Given the description of an element on the screen output the (x, y) to click on. 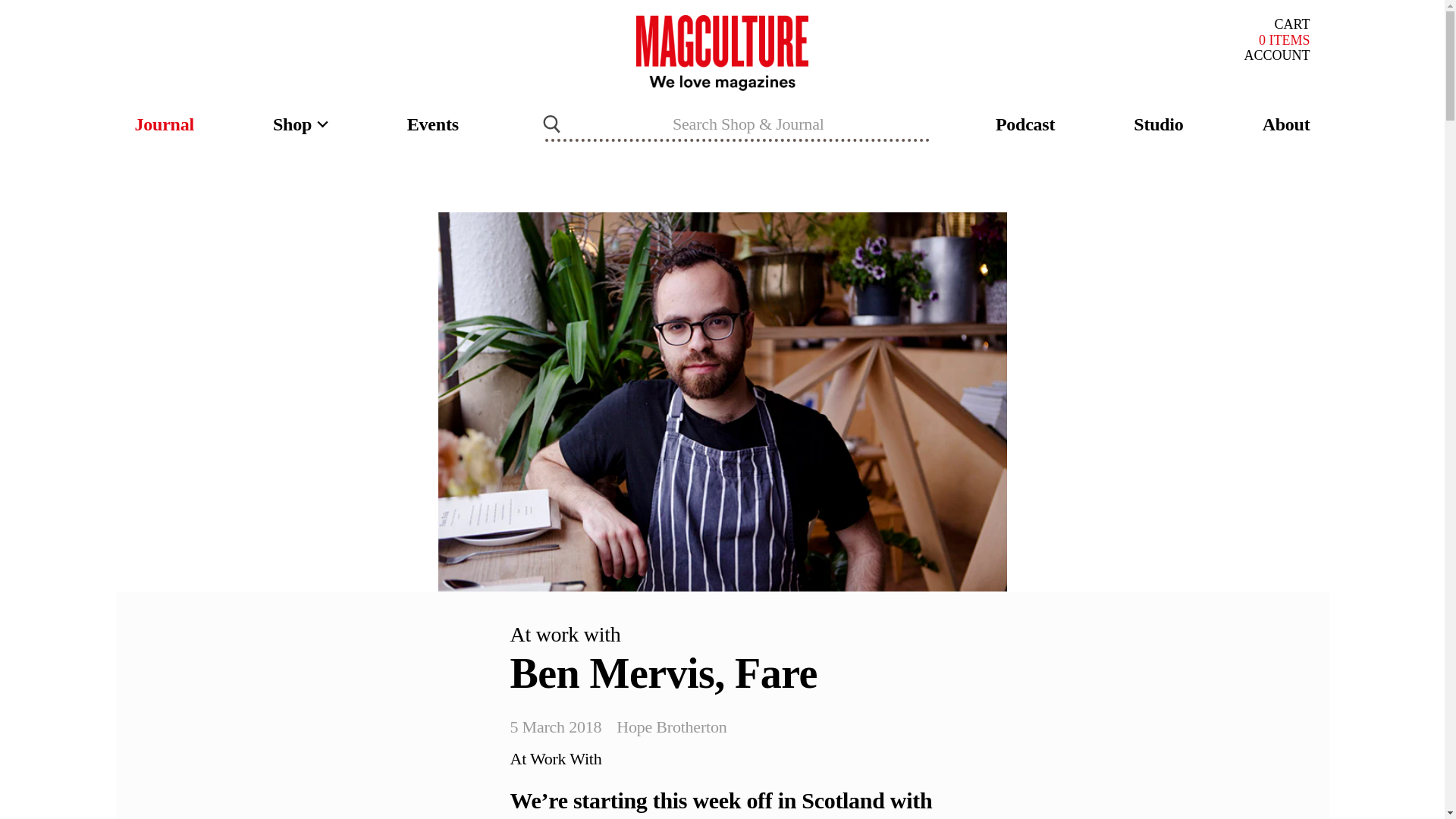
Show articles tagged At Work With (555, 758)
Shop (1292, 24)
Journal (301, 124)
ACCOUNT (164, 124)
